Given the description of an element on the screen output the (x, y) to click on. 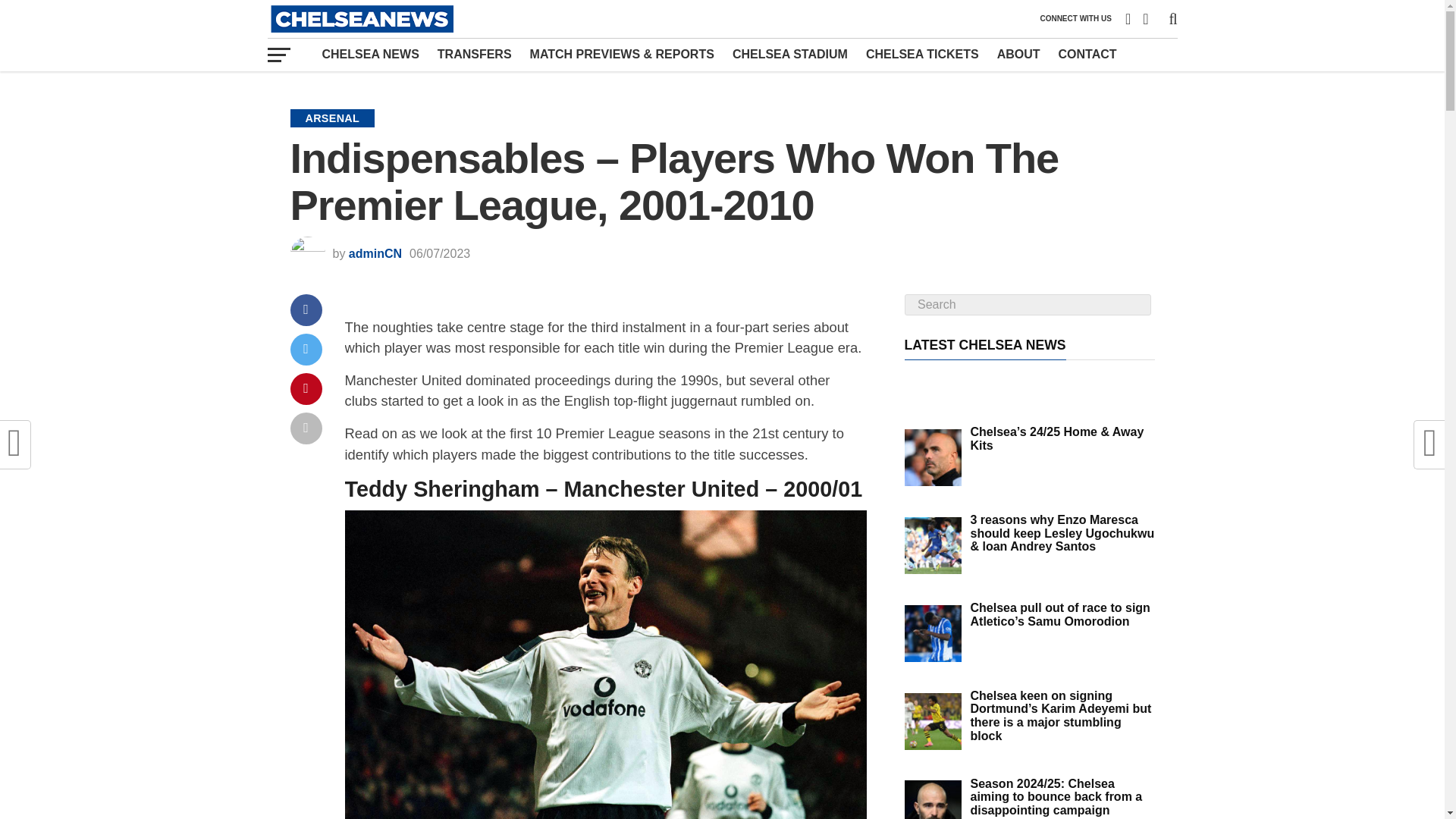
adminCN (375, 253)
Search (1027, 304)
CHELSEA NEWS (370, 54)
Posts by adminCN (375, 253)
CONTACT (1087, 54)
CHELSEA STADIUM (790, 54)
ABOUT (1018, 54)
TRANSFERS (474, 54)
CHELSEA TICKETS (922, 54)
